Given the description of an element on the screen output the (x, y) to click on. 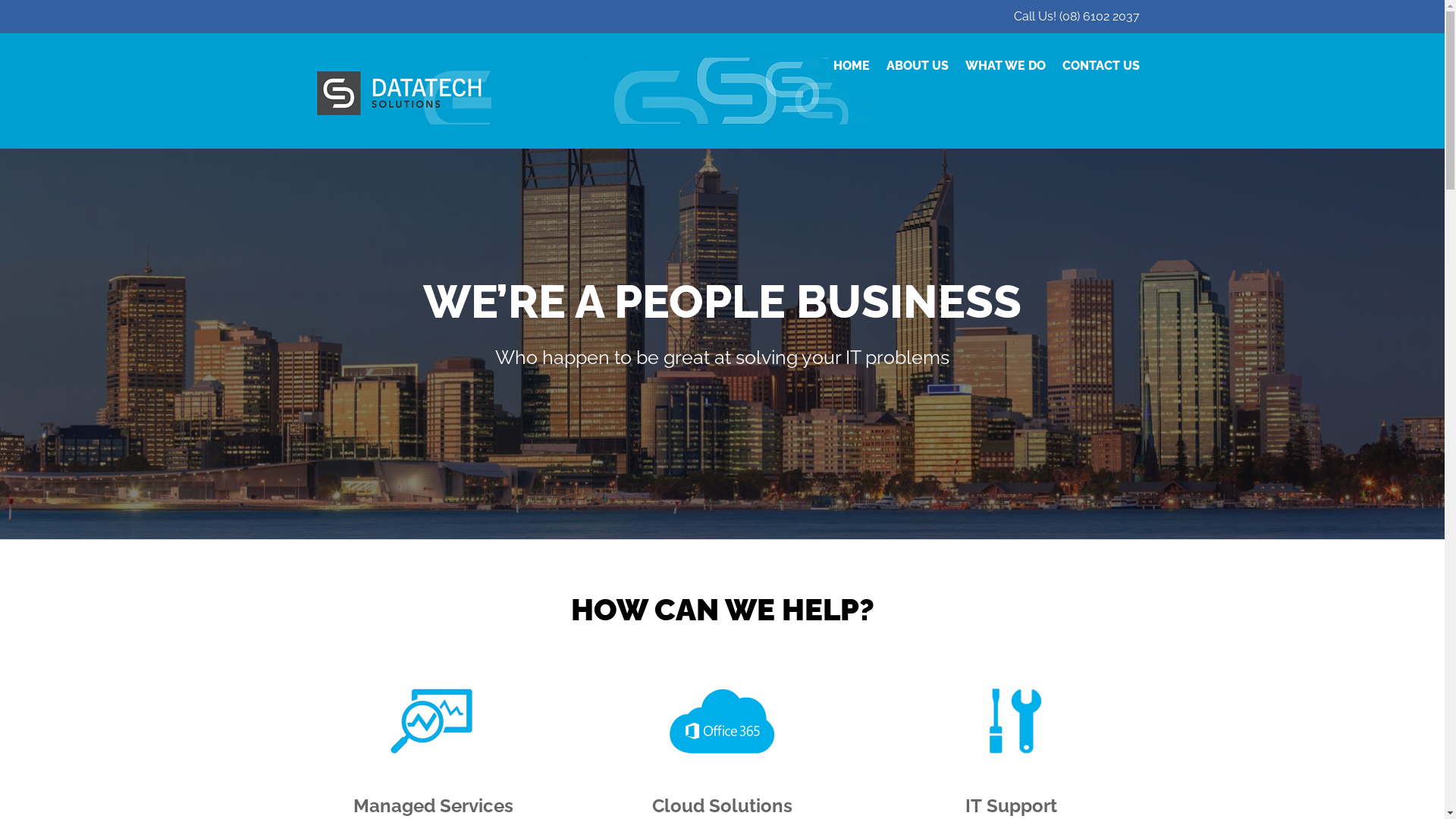
HOME Element type: text (850, 65)
IT-Support-Icon-LB Element type: hover (1011, 721)
Managed-Services-Icon-150x150-LB Element type: hover (432, 721)
WHAT WE DO Element type: text (1004, 65)
CONTACT US Element type: text (1100, 65)
Microsoft Office 365 Icon Element type: hover (721, 721)
ABOUT US Element type: text (916, 65)
